Given the description of an element on the screen output the (x, y) to click on. 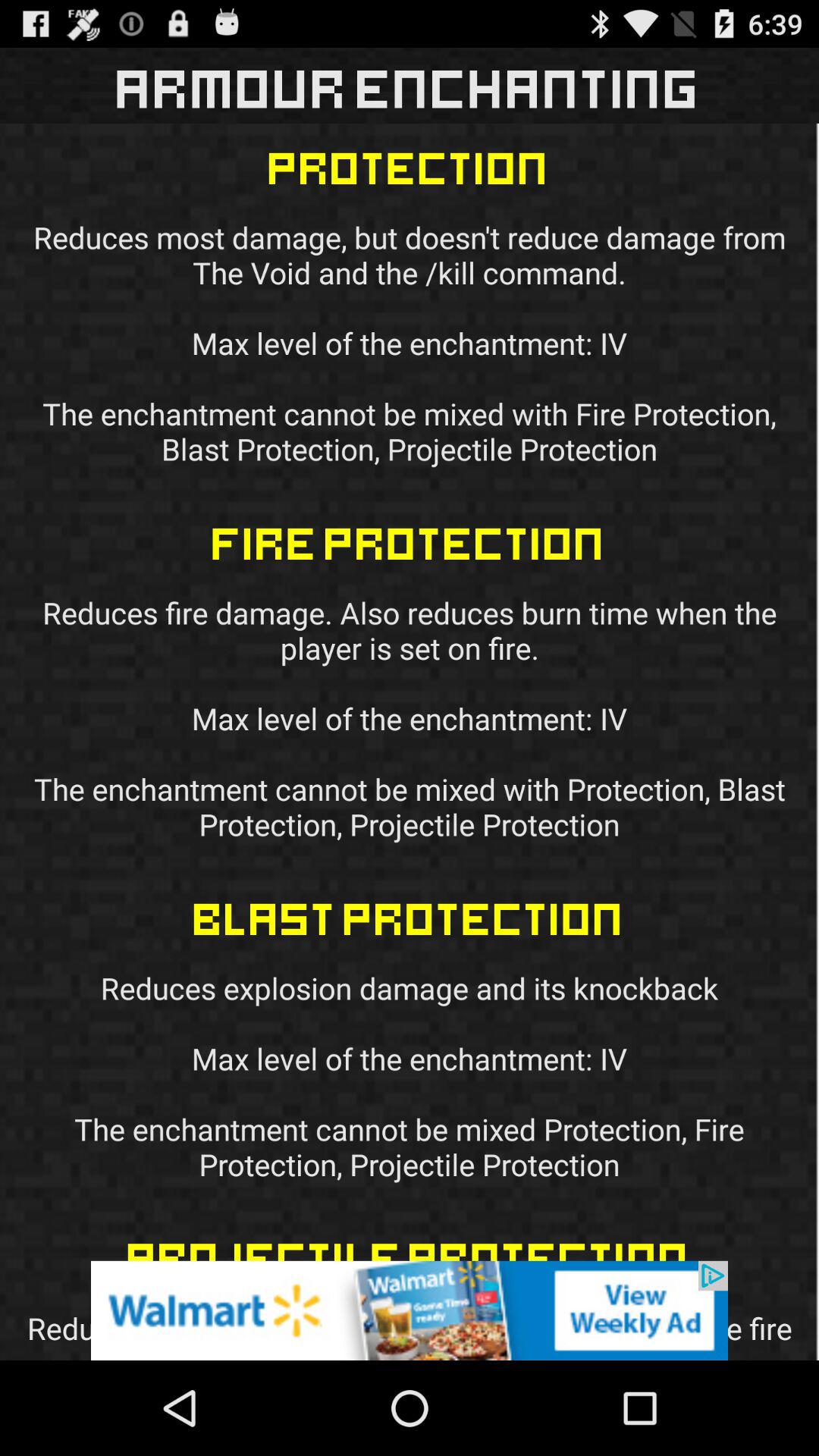
go to advertisement website (409, 1310)
